Given the description of an element on the screen output the (x, y) to click on. 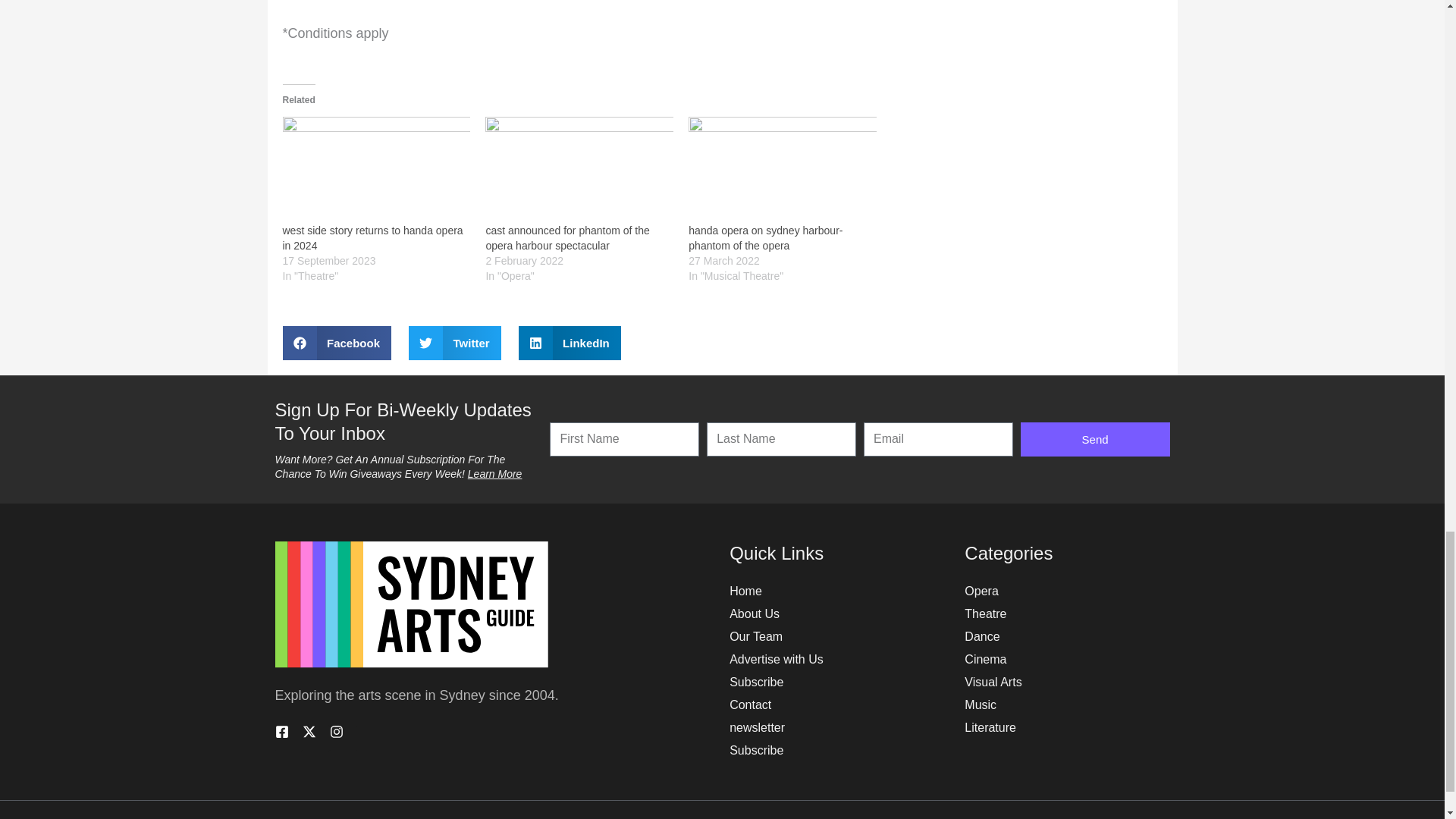
cast announced for phantom of the opera harbour  spectacular (578, 168)
handa opera on sydney harbour-phantom of the opera (765, 237)
cast announced for phantom of the opera harbour  spectacular (566, 237)
west side story returns to handa opera in 2024 (372, 237)
west side story returns to handa opera in 2024 (376, 168)
Page 1 (486, 695)
west side story returns to handa opera in 2024 (372, 237)
handa opera on sydney harbour-phantom of the opera (782, 168)
